Given the description of an element on the screen output the (x, y) to click on. 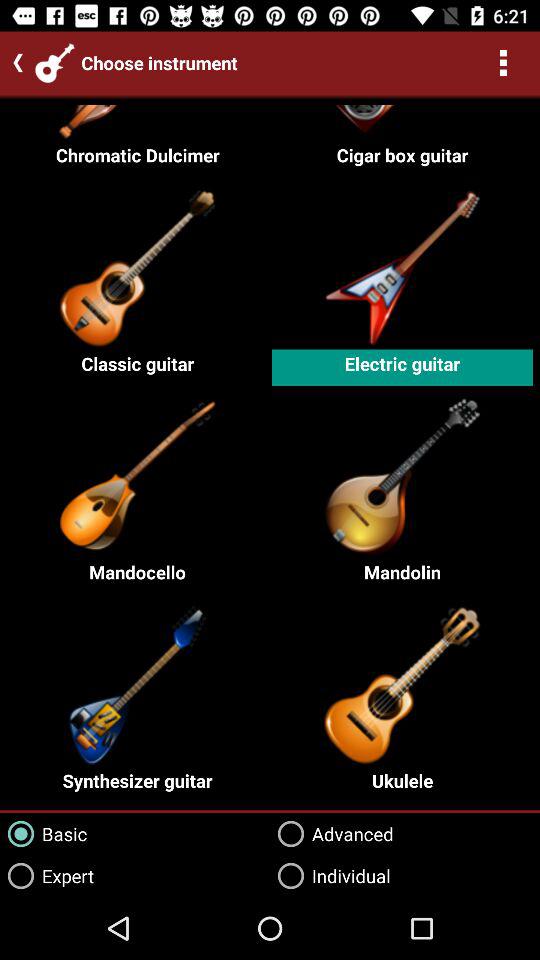
scroll until expert (47, 875)
